Given the description of an element on the screen output the (x, y) to click on. 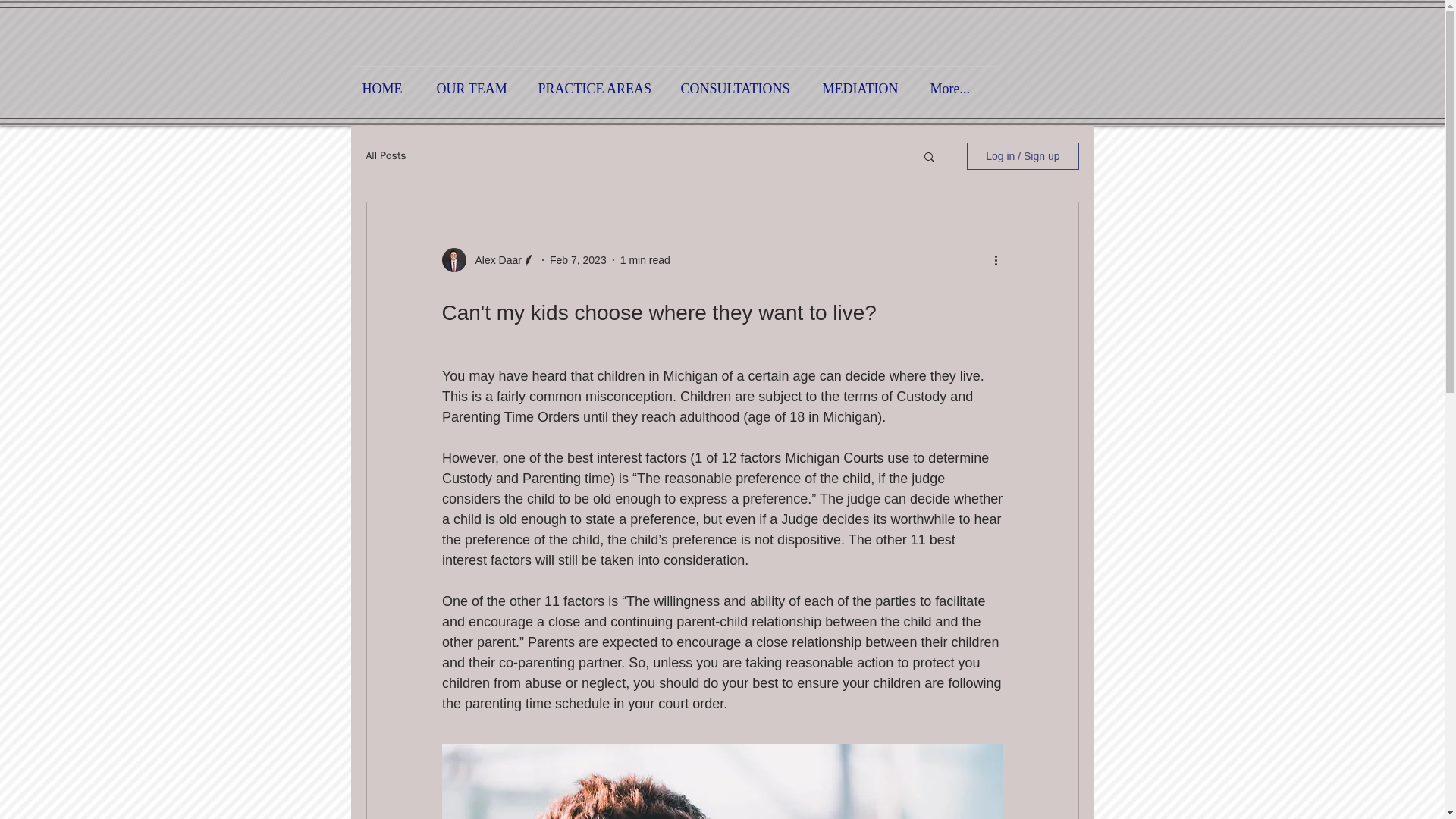
OUR TEAM (475, 88)
Feb 7, 2023 (578, 259)
HOME (387, 88)
1 min read (644, 259)
CONSULTATIONS (739, 88)
PRACTICE AREAS (596, 88)
Alex Daar (493, 259)
All Posts (385, 155)
MEDIATION (864, 88)
